Given the description of an element on the screen output the (x, y) to click on. 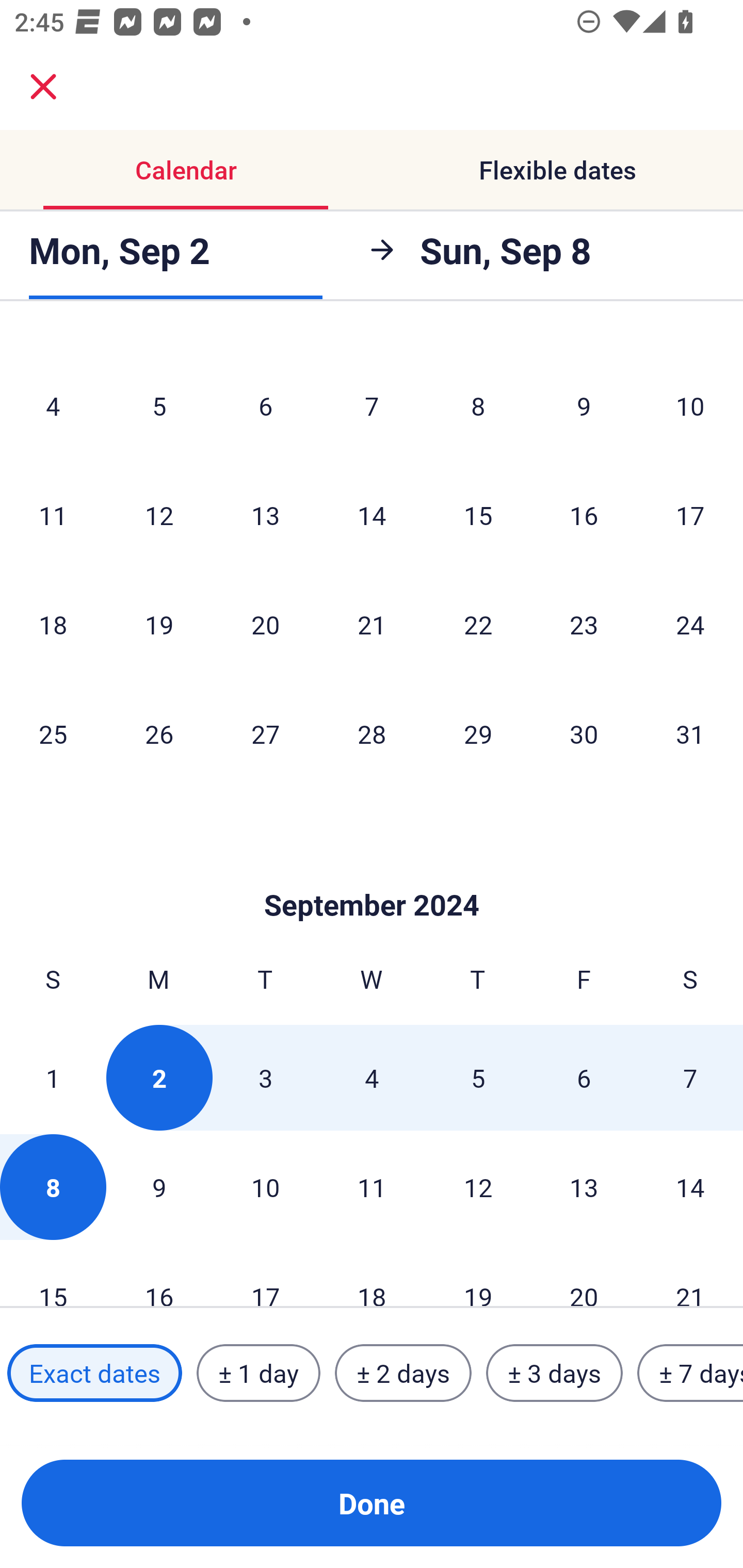
close. (43, 86)
Flexible dates (557, 170)
4 Sunday, August 4, 2024 (53, 404)
5 Monday, August 5, 2024 (159, 404)
6 Tuesday, August 6, 2024 (265, 404)
7 Wednesday, August 7, 2024 (371, 404)
8 Thursday, August 8, 2024 (477, 404)
9 Friday, August 9, 2024 (584, 404)
10 Saturday, August 10, 2024 (690, 404)
11 Sunday, August 11, 2024 (53, 514)
12 Monday, August 12, 2024 (159, 514)
13 Tuesday, August 13, 2024 (265, 514)
14 Wednesday, August 14, 2024 (371, 514)
15 Thursday, August 15, 2024 (477, 514)
16 Friday, August 16, 2024 (584, 514)
17 Saturday, August 17, 2024 (690, 514)
18 Sunday, August 18, 2024 (53, 623)
19 Monday, August 19, 2024 (159, 623)
20 Tuesday, August 20, 2024 (265, 623)
21 Wednesday, August 21, 2024 (371, 623)
22 Thursday, August 22, 2024 (477, 623)
23 Friday, August 23, 2024 (584, 623)
24 Saturday, August 24, 2024 (690, 623)
25 Sunday, August 25, 2024 (53, 733)
26 Monday, August 26, 2024 (159, 733)
27 Tuesday, August 27, 2024 (265, 733)
28 Wednesday, August 28, 2024 (371, 733)
29 Thursday, August 29, 2024 (477, 733)
30 Friday, August 30, 2024 (584, 733)
31 Saturday, August 31, 2024 (690, 733)
Skip to Done (371, 874)
1 Sunday, September 1, 2024 (53, 1077)
9 Monday, September 9, 2024 (159, 1186)
10 Tuesday, September 10, 2024 (265, 1186)
11 Wednesday, September 11, 2024 (371, 1186)
12 Thursday, September 12, 2024 (477, 1186)
13 Friday, September 13, 2024 (584, 1186)
14 Saturday, September 14, 2024 (690, 1186)
15 Sunday, September 15, 2024 (53, 1274)
16 Monday, September 16, 2024 (159, 1274)
17 Tuesday, September 17, 2024 (265, 1274)
18 Wednesday, September 18, 2024 (371, 1274)
19 Thursday, September 19, 2024 (477, 1274)
20 Friday, September 20, 2024 (584, 1274)
21 Saturday, September 21, 2024 (690, 1274)
Exact dates (94, 1372)
± 1 day (258, 1372)
± 2 days (403, 1372)
± 3 days (553, 1372)
± 7 days (690, 1372)
Done (371, 1502)
